Given the description of an element on the screen output the (x, y) to click on. 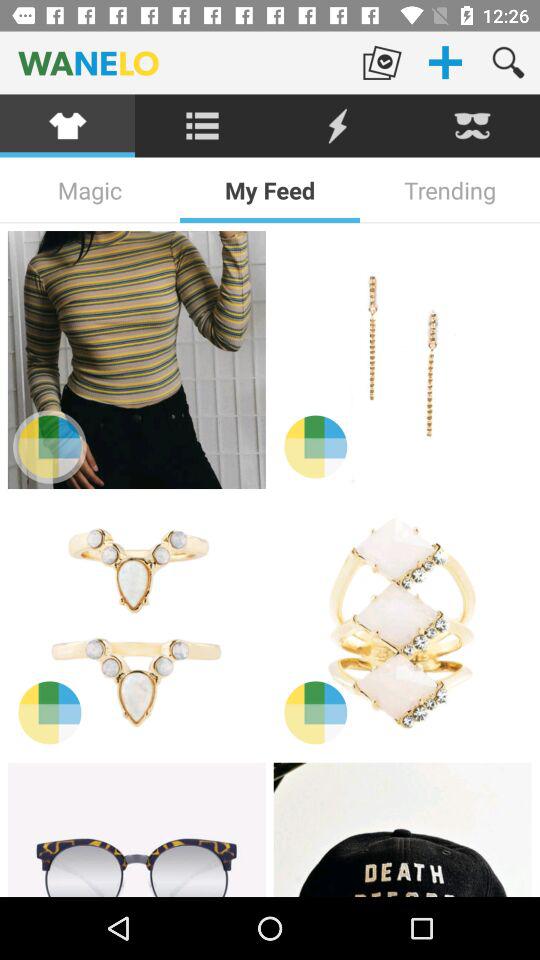
open product image (402, 360)
